Given the description of an element on the screen output the (x, y) to click on. 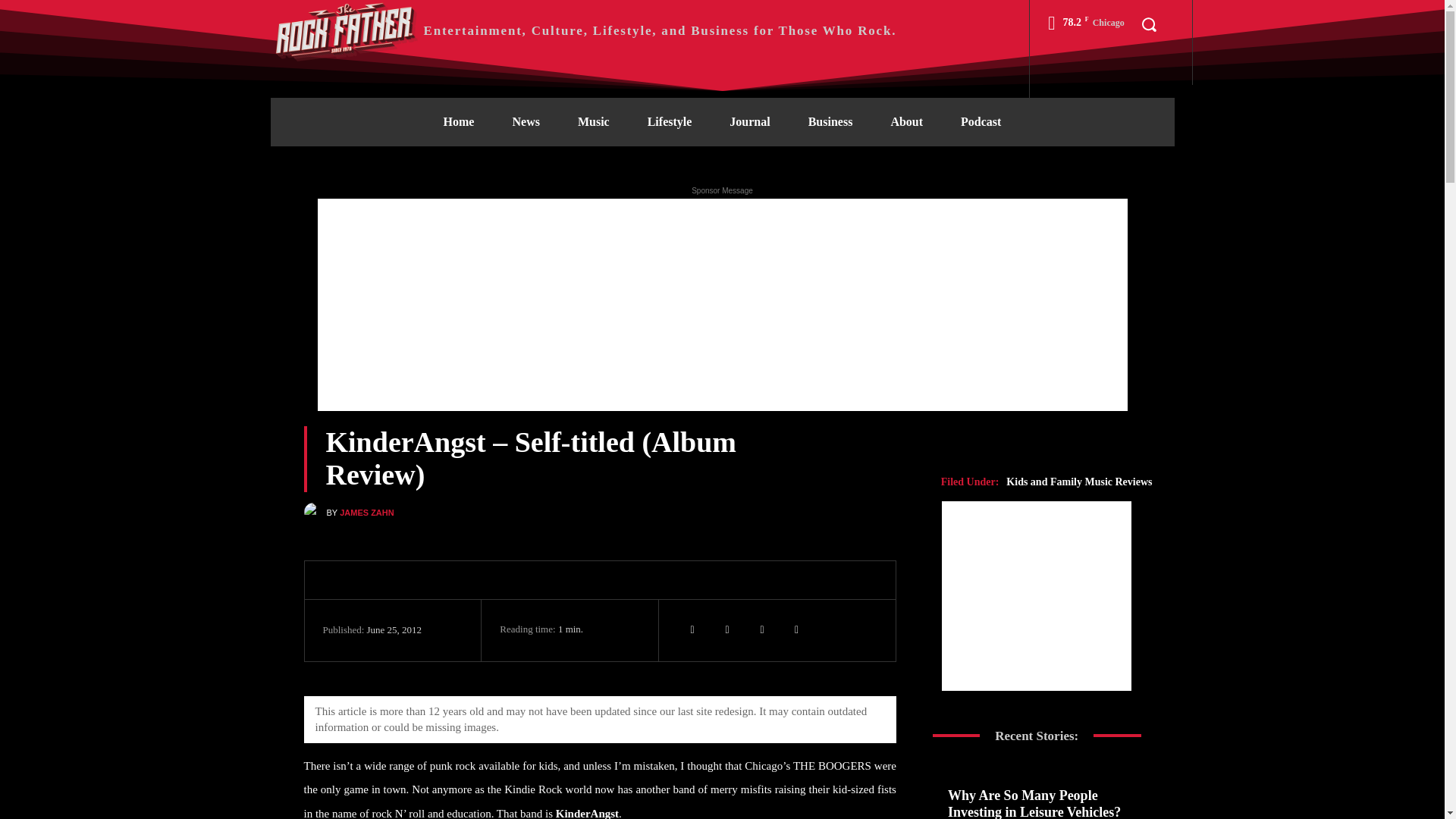
Lifestyle (669, 121)
ReddIt (796, 630)
Twitter (692, 630)
The Rock Father (582, 30)
News (525, 121)
James Zahn (314, 511)
Home (459, 121)
The Rock Father (345, 30)
Linkedin (726, 630)
Music (593, 121)
Facebook (761, 630)
